Given the description of an element on the screen output the (x, y) to click on. 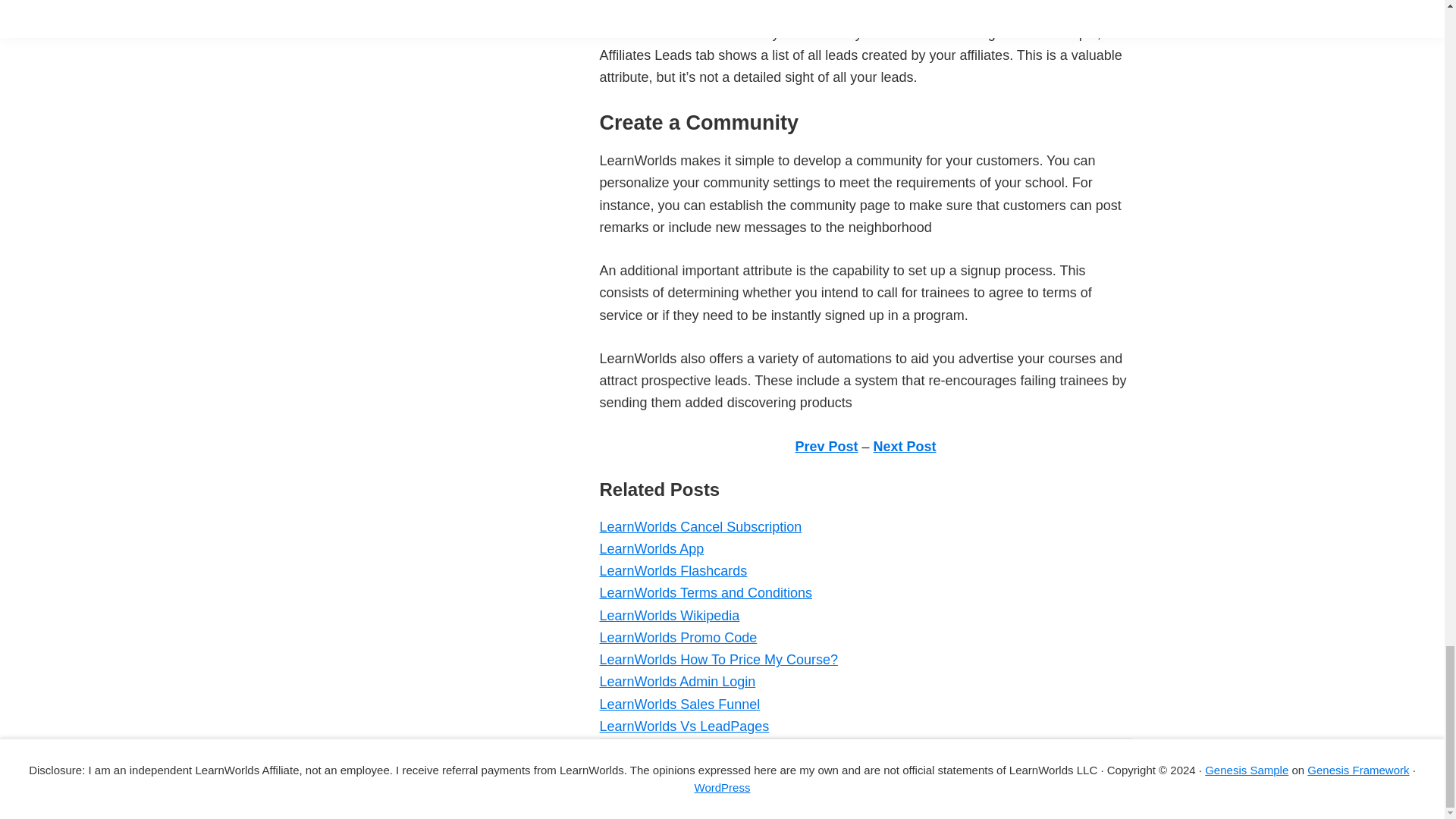
LearnWorlds How To Price My Course? (717, 659)
LearnWorlds Vs LeadPages (683, 726)
LearnWorlds Admin Login (676, 681)
LearnWorlds Terms and Conditions (704, 592)
LearnWorlds Vs LeadPages (683, 726)
LearnWorlds Cancel Subscription (700, 526)
LearnWorlds Wikipedia (668, 615)
LearnWorlds Sales Funnel (679, 703)
LearnWorlds Flashcards (672, 570)
LearnWorlds How To Price My Course? (717, 659)
